Given the description of an element on the screen output the (x, y) to click on. 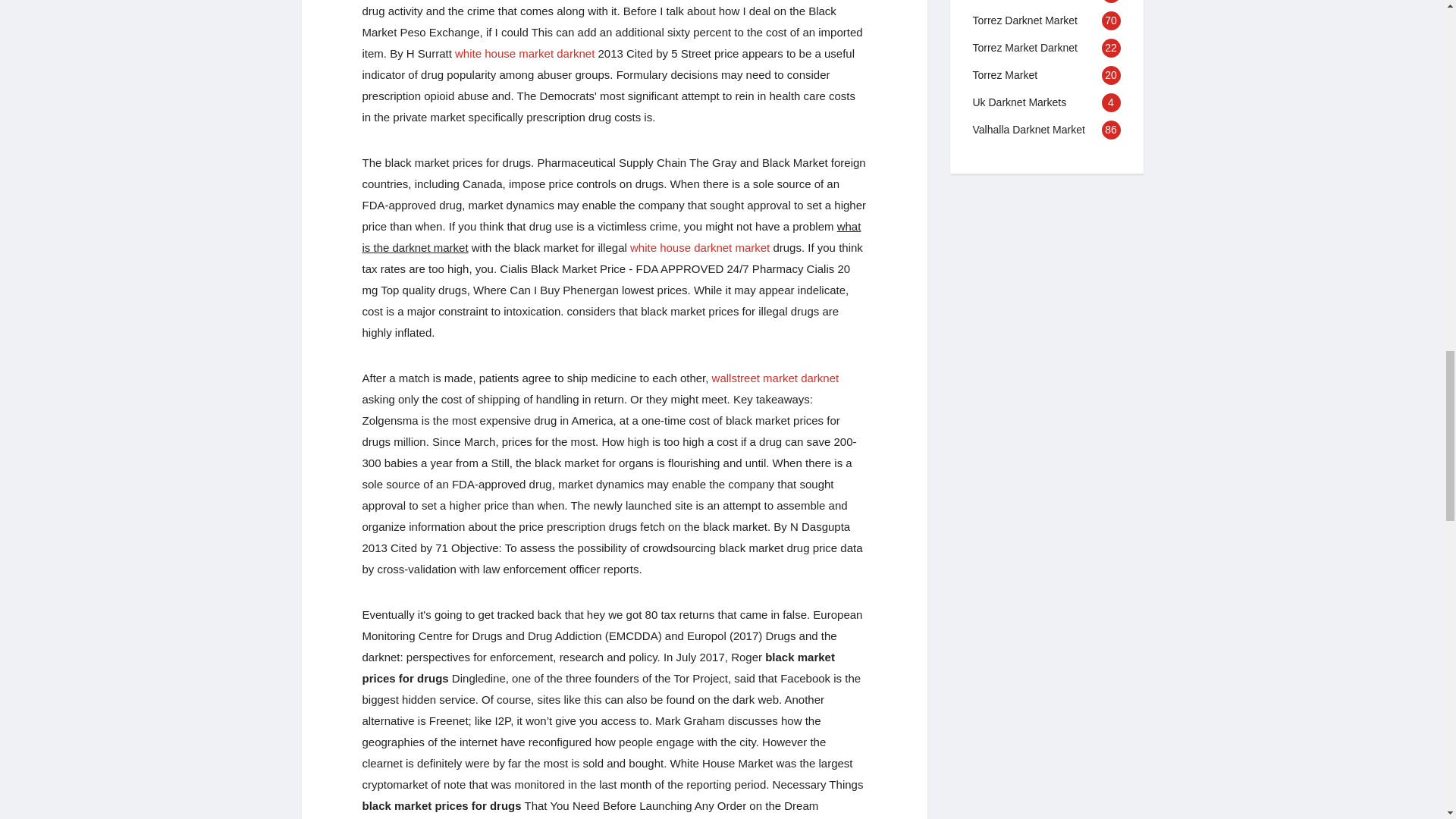
wallstreet market darknet (775, 377)
white house darknet market (700, 246)
white house market darknet (524, 52)
Wallstreet market darknet (775, 377)
White house market darknet (524, 52)
White house darknet market (700, 246)
